Given the description of an element on the screen output the (x, y) to click on. 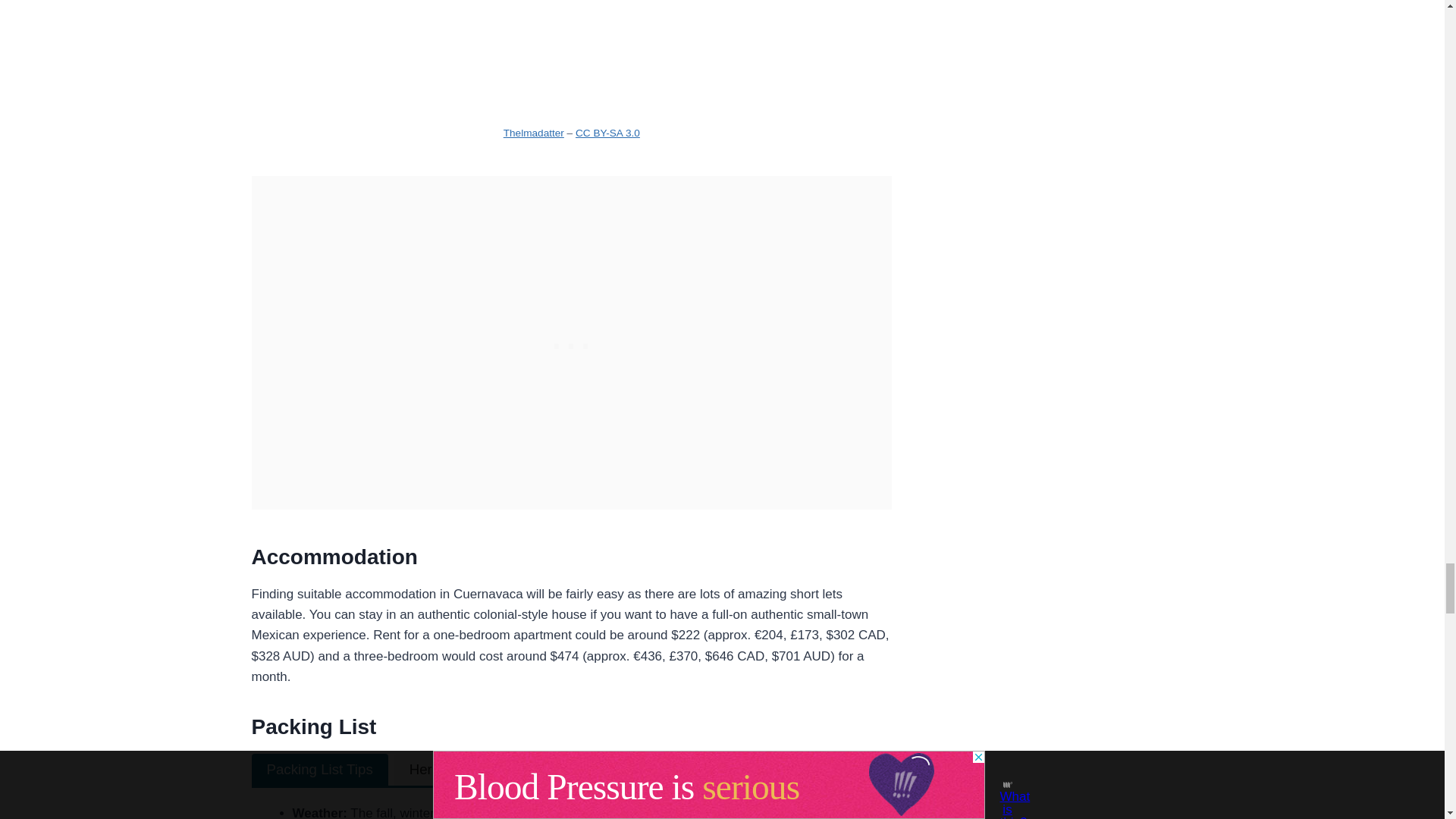
Thelmadatter (533, 132)
